Given the description of an element on the screen output the (x, y) to click on. 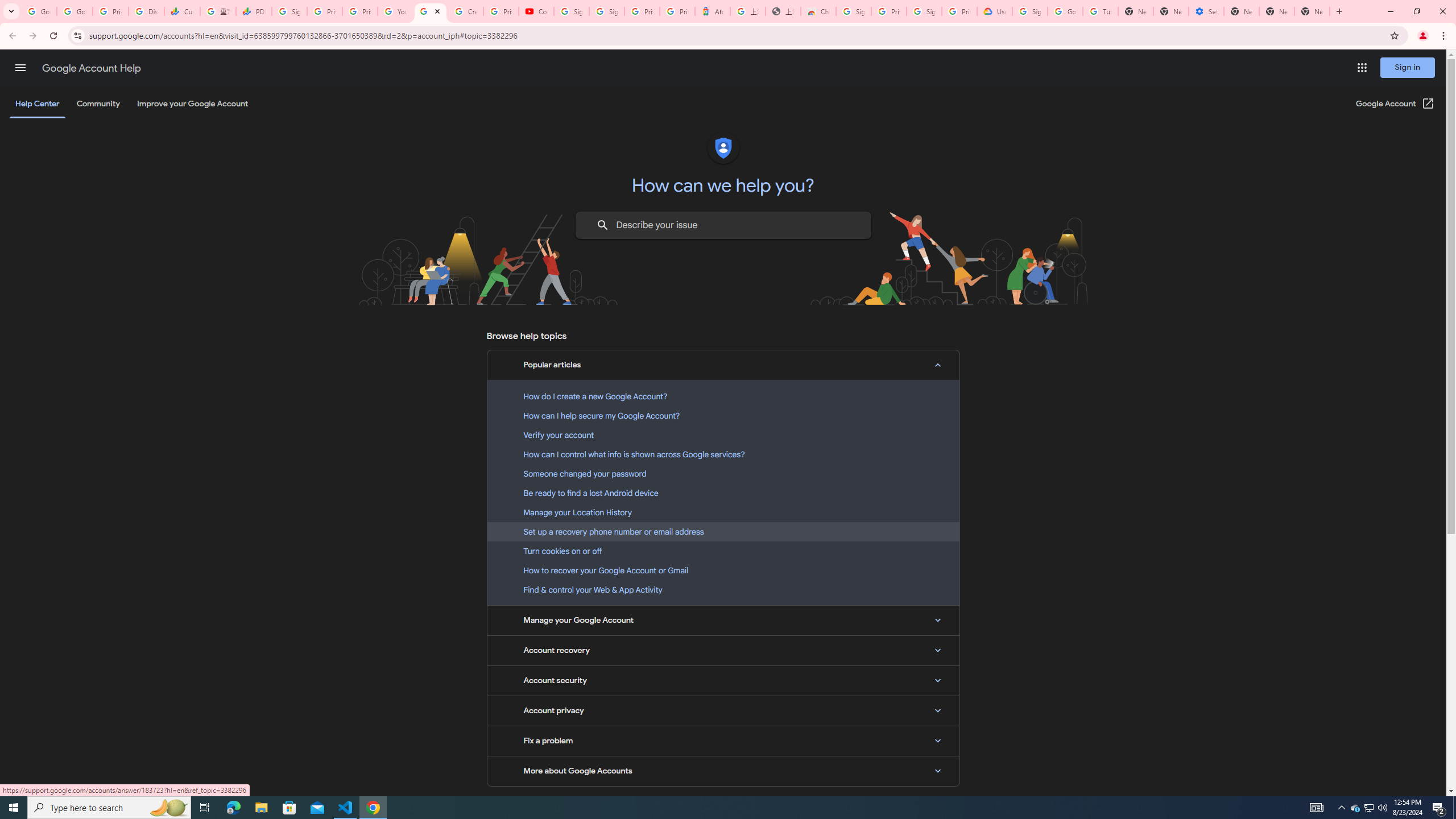
Currencies - Google Finance (181, 11)
Describe your issue to find information that might help you. (722, 225)
Someone changed your password (722, 473)
Sign in - Google Accounts (1029, 11)
Popular articles, Expanded list with 11 items (722, 365)
More about Google Accounts (722, 771)
Google Account Help (91, 68)
